Given the description of an element on the screen output the (x, y) to click on. 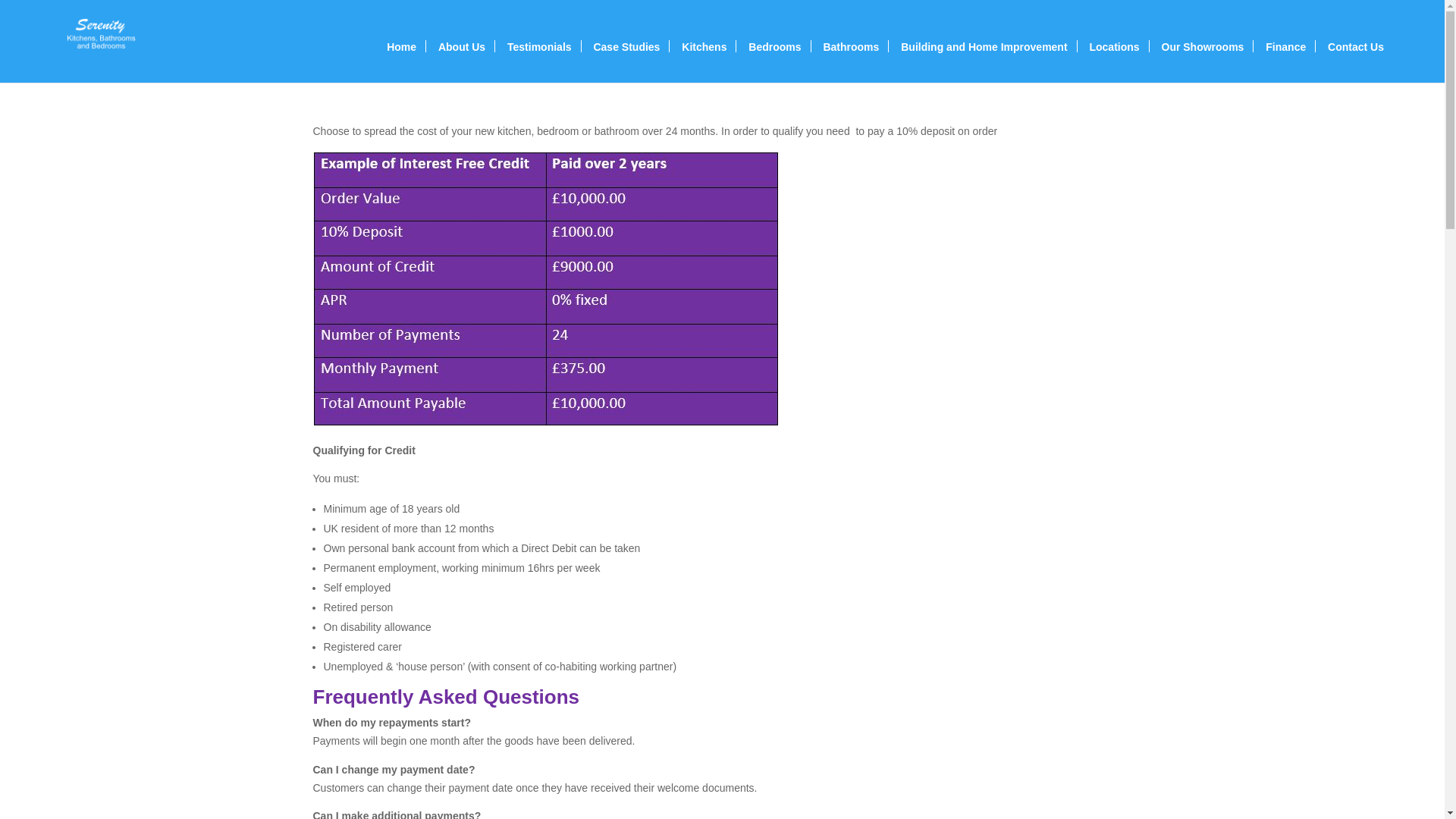
Building and Home Improvement (984, 46)
Home (401, 46)
About Us (461, 46)
Locations (1113, 46)
Bathrooms (850, 46)
Finance (1285, 46)
Kitchens (703, 46)
Our Showrooms (1202, 46)
Bedrooms (774, 46)
Contact Us (1355, 46)
Case Studies (625, 46)
Testimonials (539, 46)
